Given the description of an element on the screen output the (x, y) to click on. 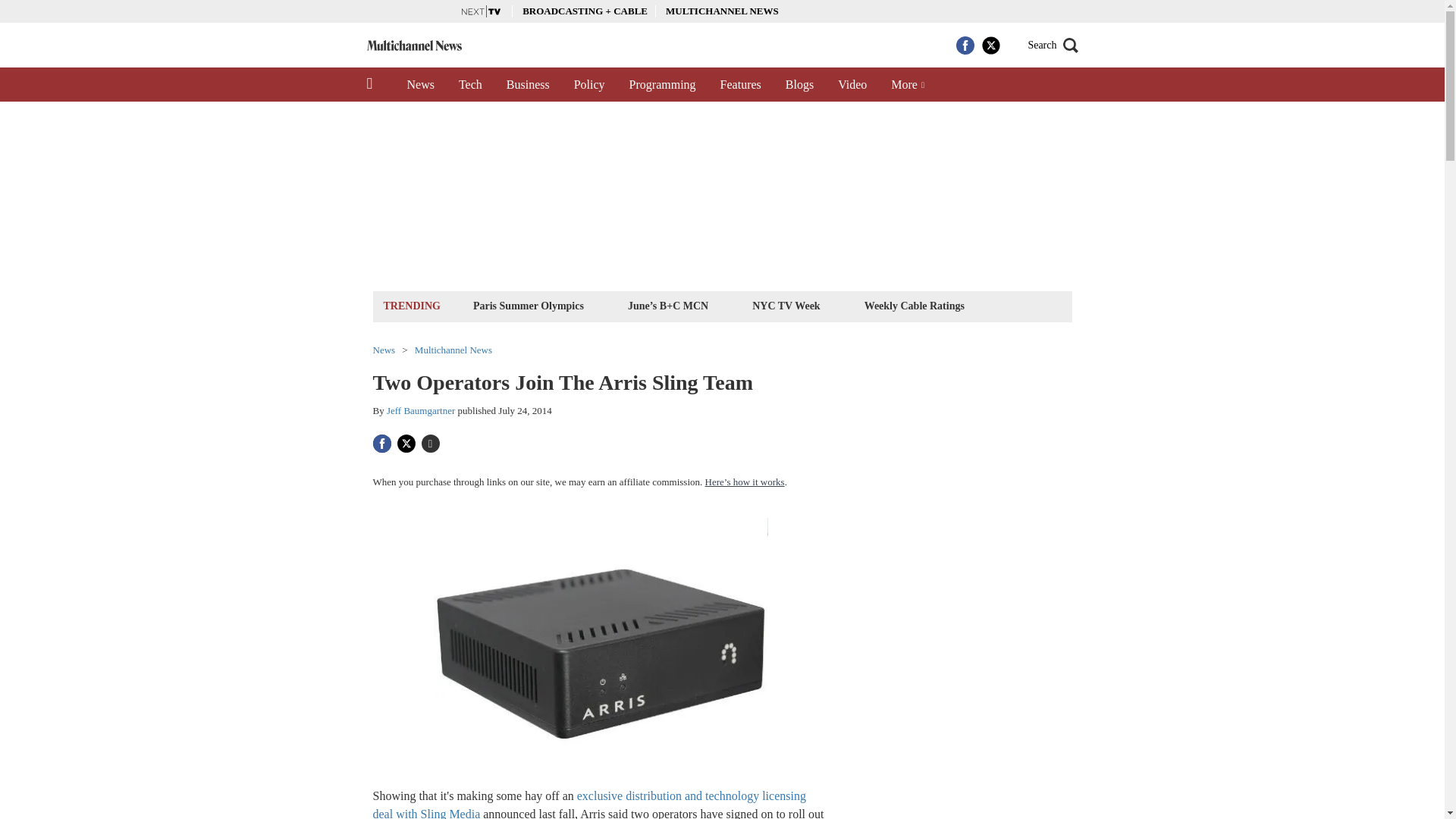
Video (852, 84)
Business (528, 84)
Jeff Baumgartner (420, 410)
Policy (589, 84)
Programming (662, 84)
Weekly Cable Ratings (914, 305)
Paris Summer Olympics (528, 305)
Tech (470, 84)
Multichannel News (453, 349)
